Given the description of an element on the screen output the (x, y) to click on. 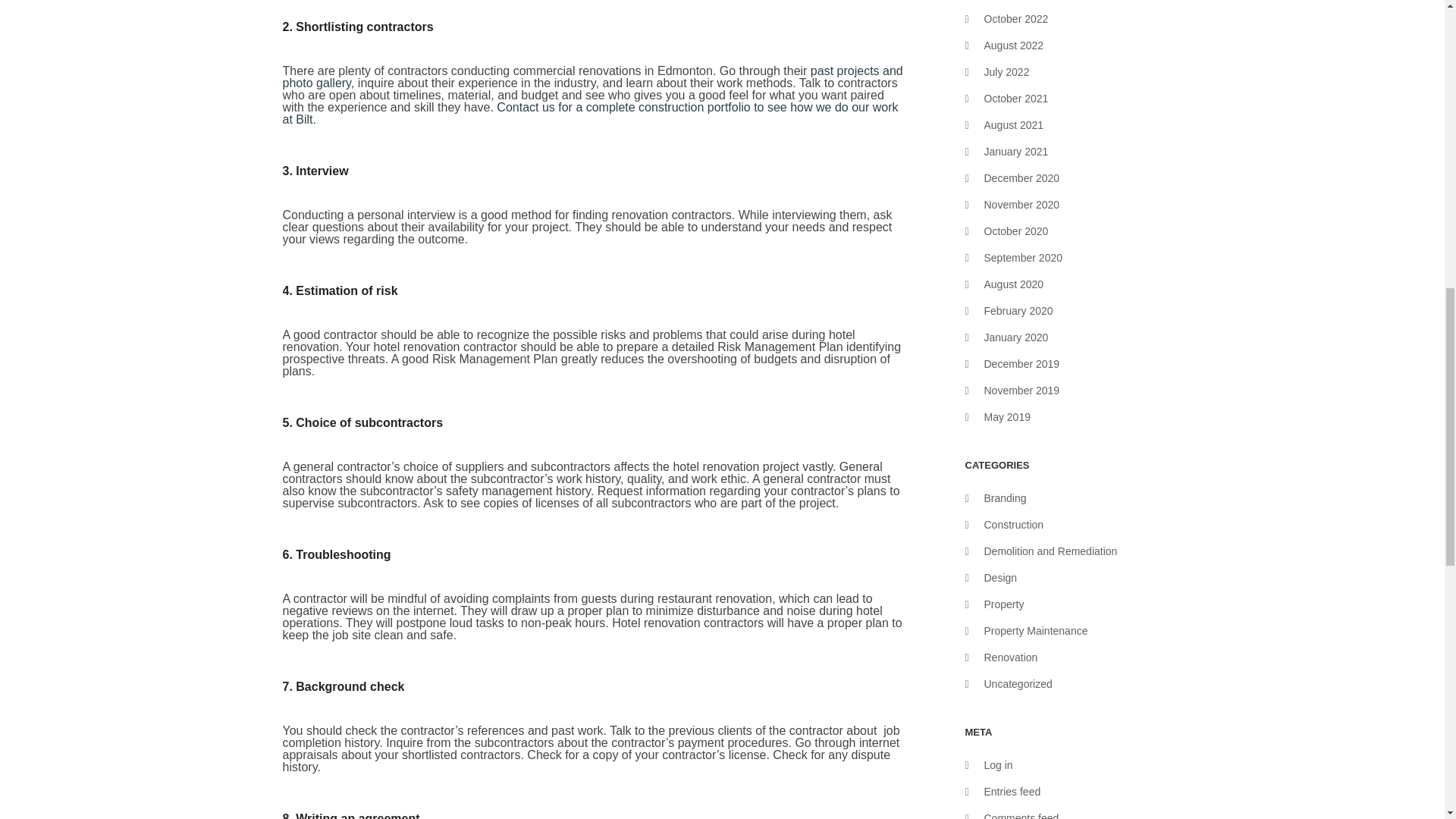
past projects and photo gallery (592, 76)
